Given the description of an element on the screen output the (x, y) to click on. 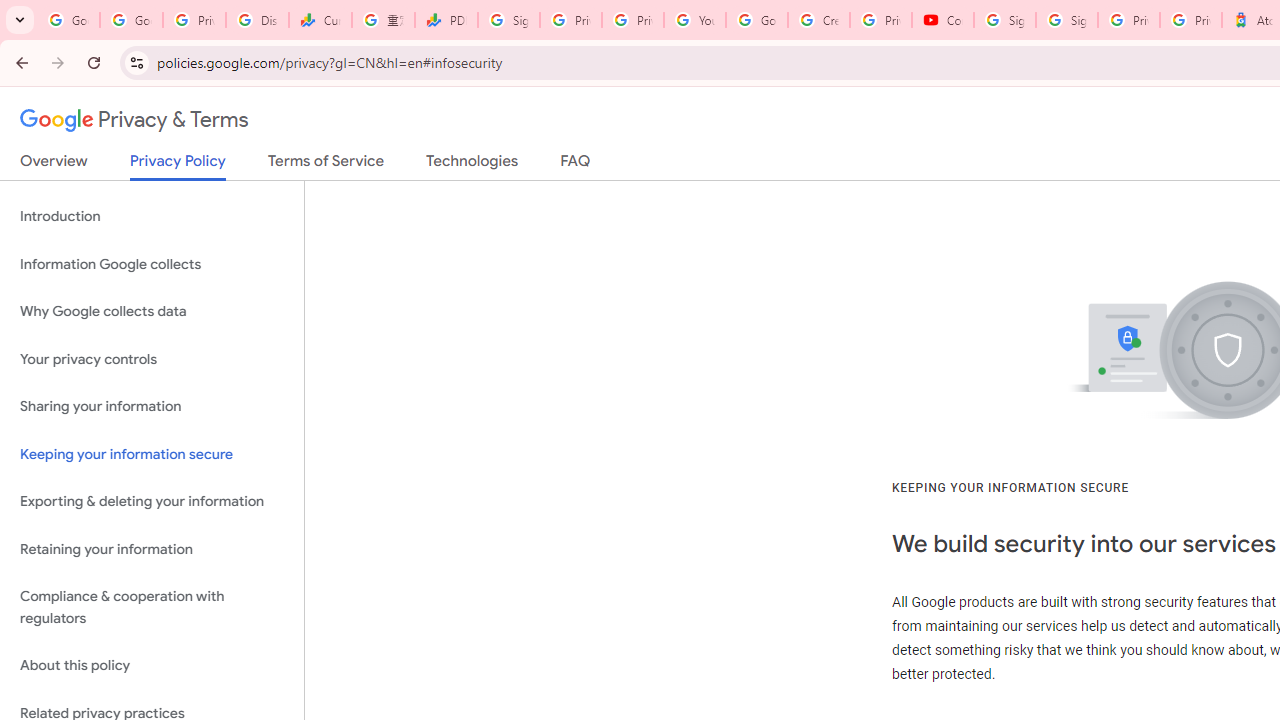
PDD Holdings Inc - ADR (PDD) Price & News - Google Finance (445, 20)
Privacy Checkup (632, 20)
Why Google collects data (152, 312)
Sign in - Google Accounts (1066, 20)
